Given the description of an element on the screen output the (x, y) to click on. 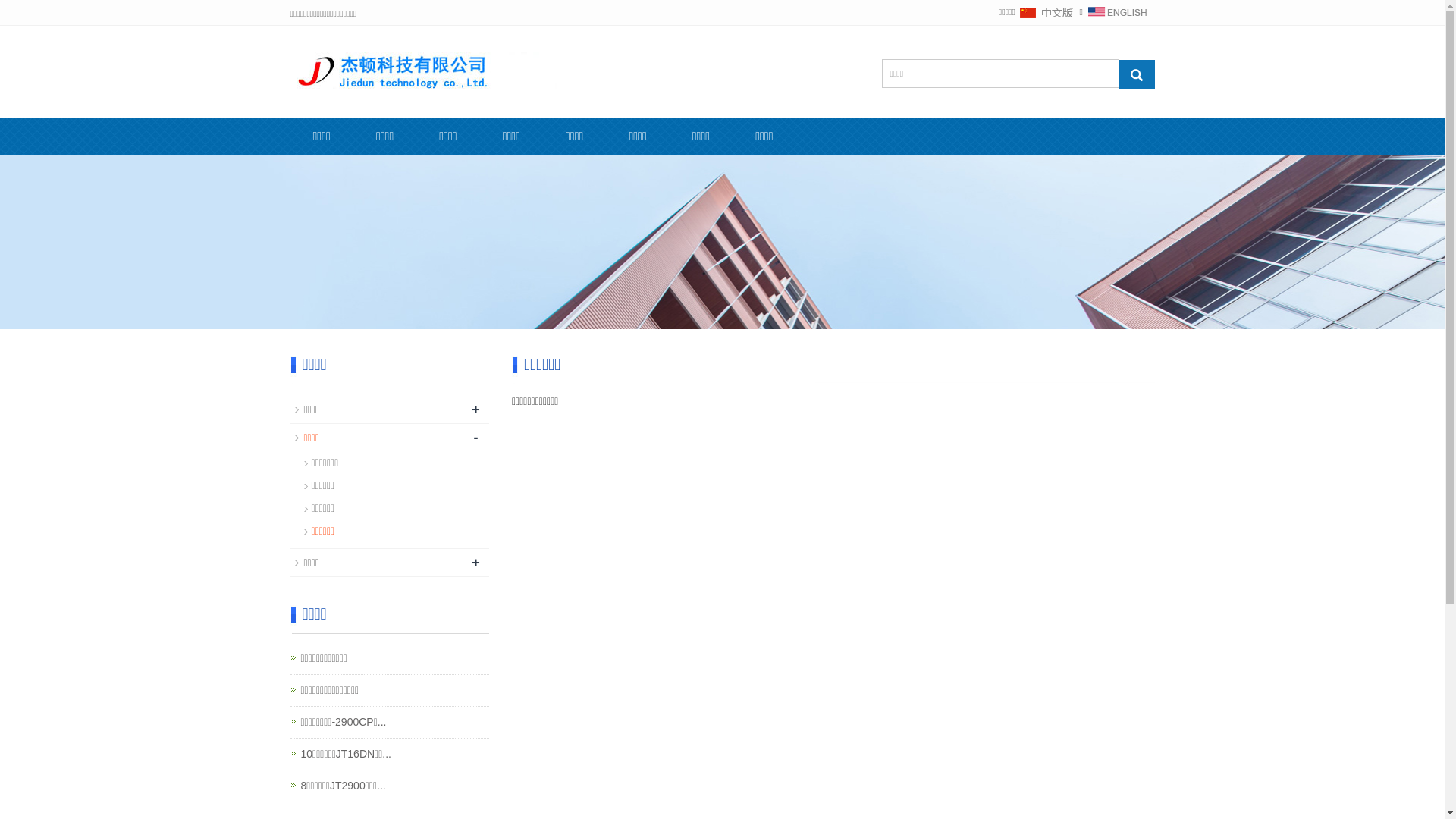
English Element type: hover (1116, 11)
